Given the description of an element on the screen output the (x, y) to click on. 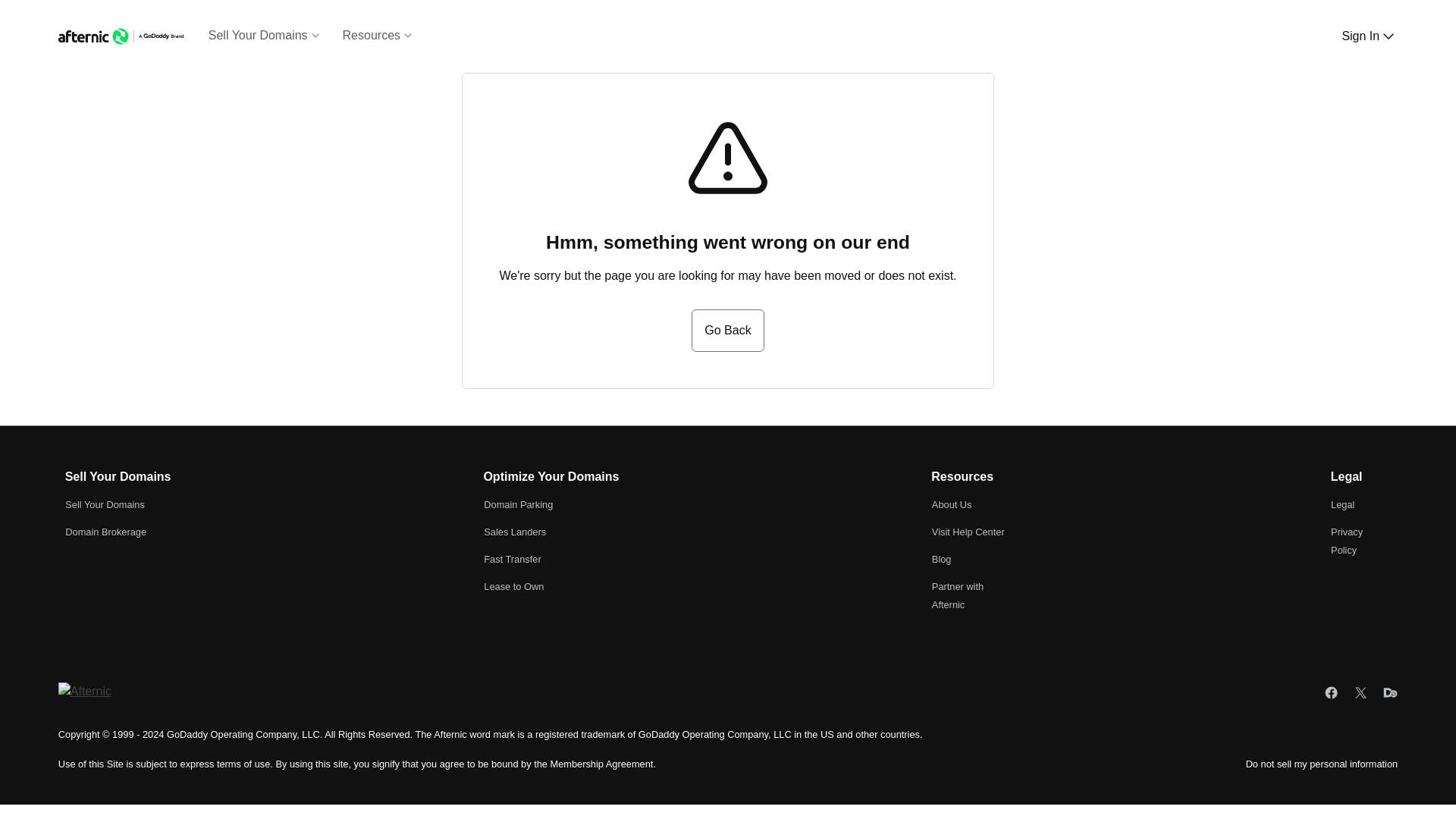
Sales Landers (514, 531)
Resources (377, 47)
Domain Brokerage (106, 531)
About Us (951, 504)
Visit Help Center (967, 531)
Lease to Own (513, 586)
Partner with Afternic (957, 595)
Go Back (726, 330)
Sell Your Domains (104, 504)
Blog (941, 559)
Privacy Policy (1346, 541)
Fast Transfer (511, 559)
Domain Parking (518, 504)
Legal (1342, 504)
Do not sell my personal information (1321, 763)
